Given the description of an element on the screen output the (x, y) to click on. 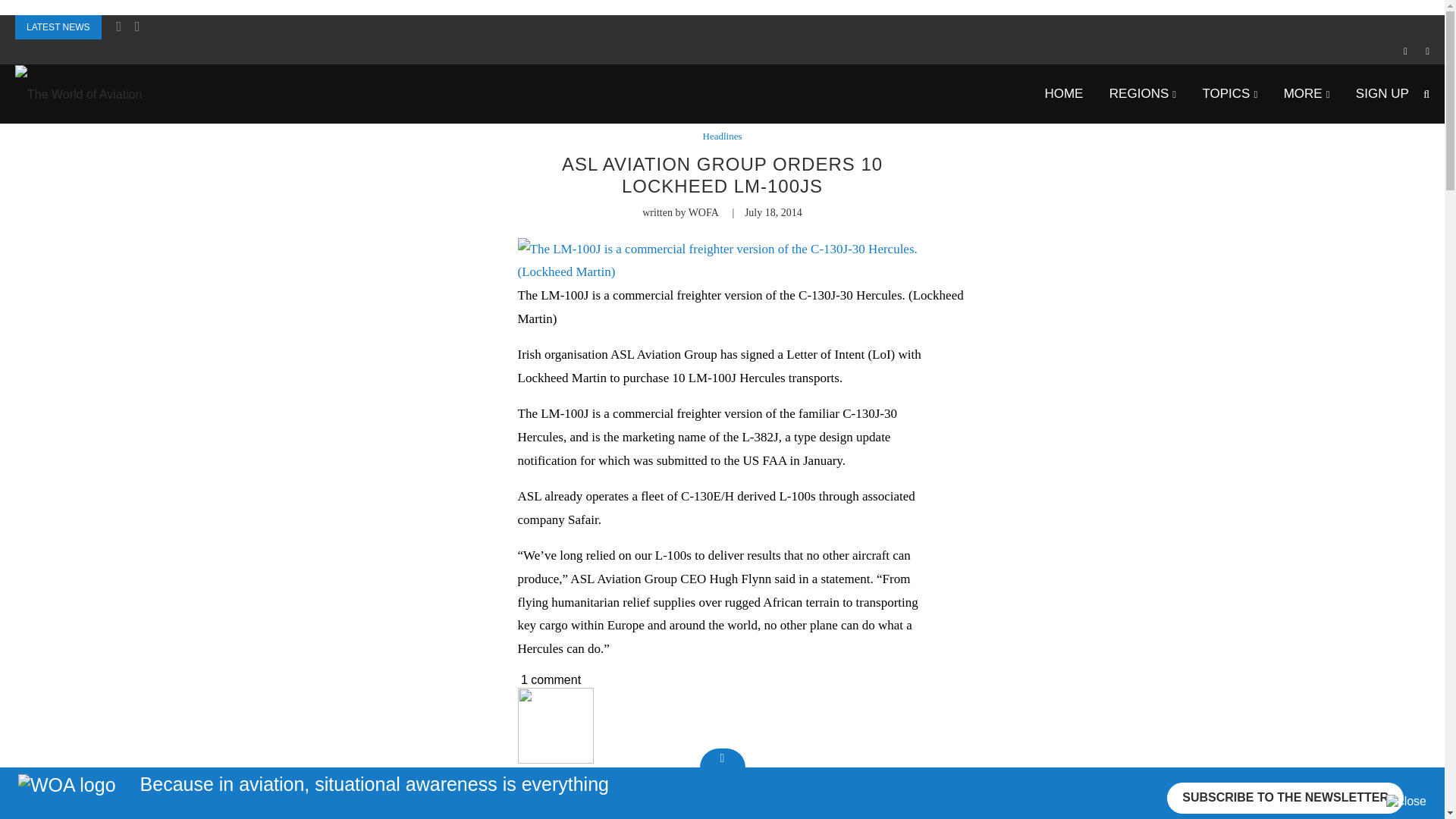
HOME (1063, 93)
Posts by WOFA (531, 785)
REGIONS (1142, 93)
TOPICS (1229, 93)
